Given the description of an element on the screen output the (x, y) to click on. 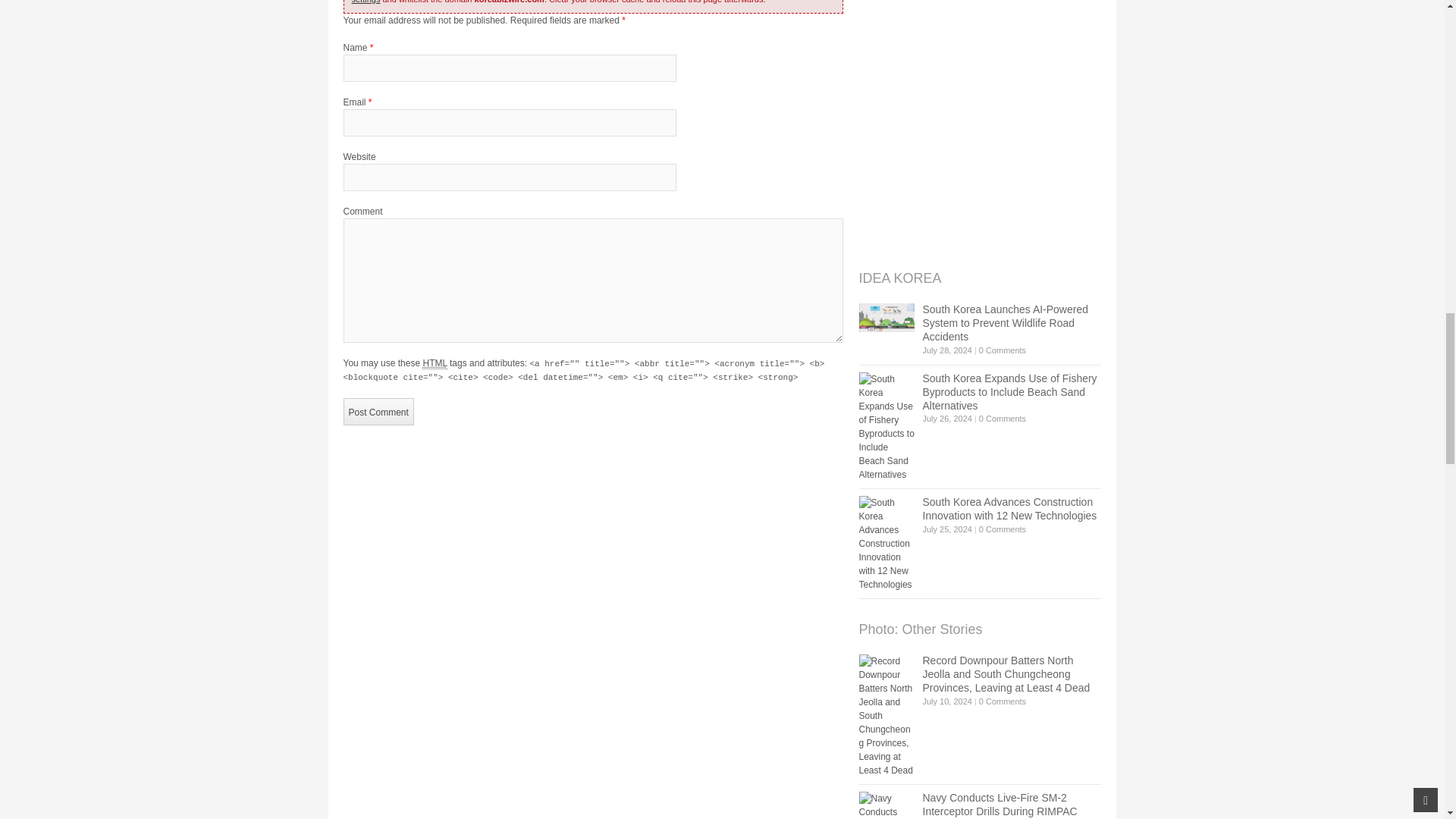
Post Comment (377, 411)
